Given the description of an element on the screen output the (x, y) to click on. 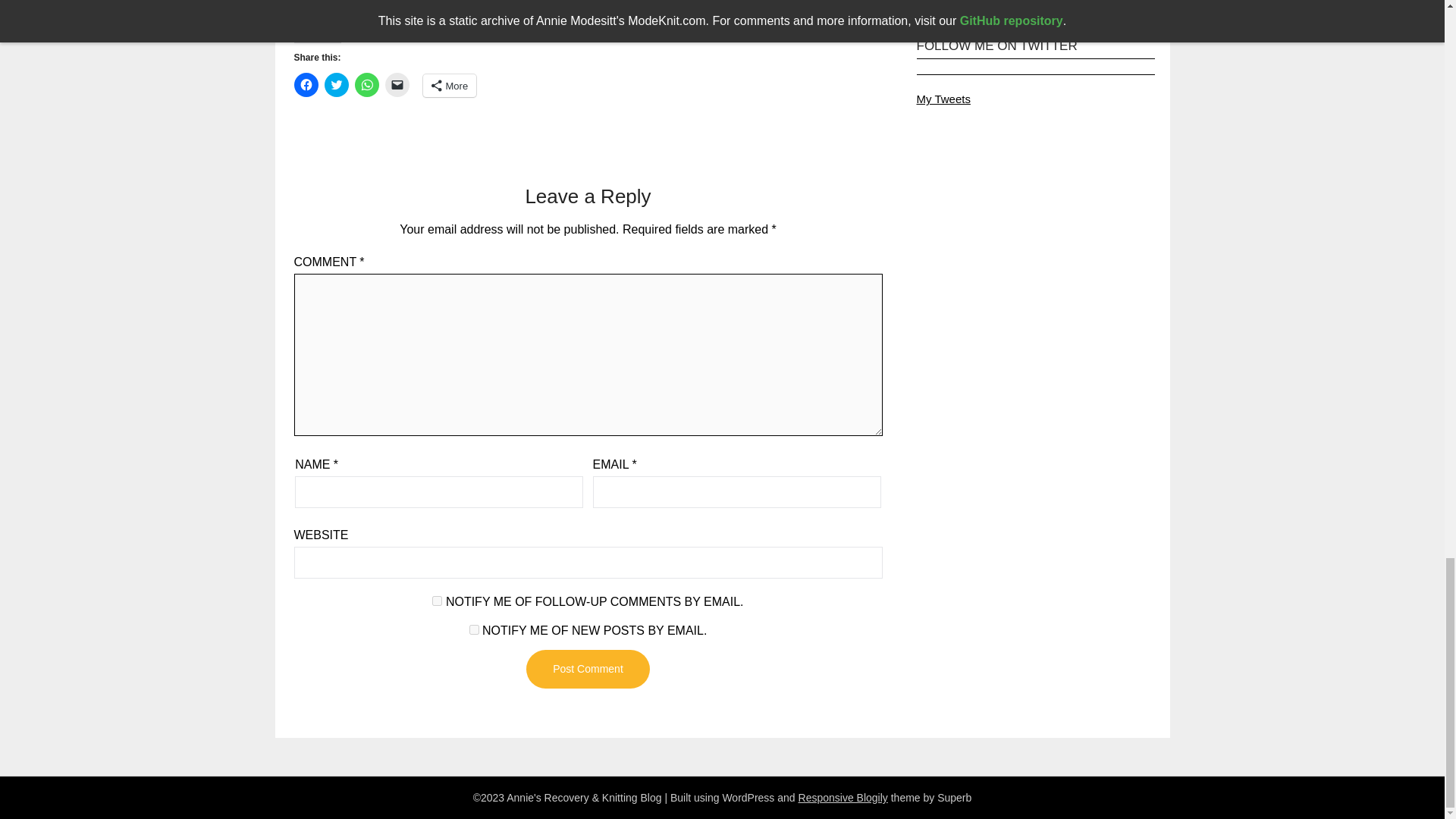
My Tweets (942, 98)
subscribe (437, 601)
Post Comment (587, 669)
More (450, 85)
Responsive Blogily (842, 797)
subscribe (473, 629)
Click to email a link to a friend (397, 84)
Click to share on WhatsApp (366, 84)
Click to share on Facebook (306, 84)
Click to share on Twitter (336, 84)
